Given the description of an element on the screen output the (x, y) to click on. 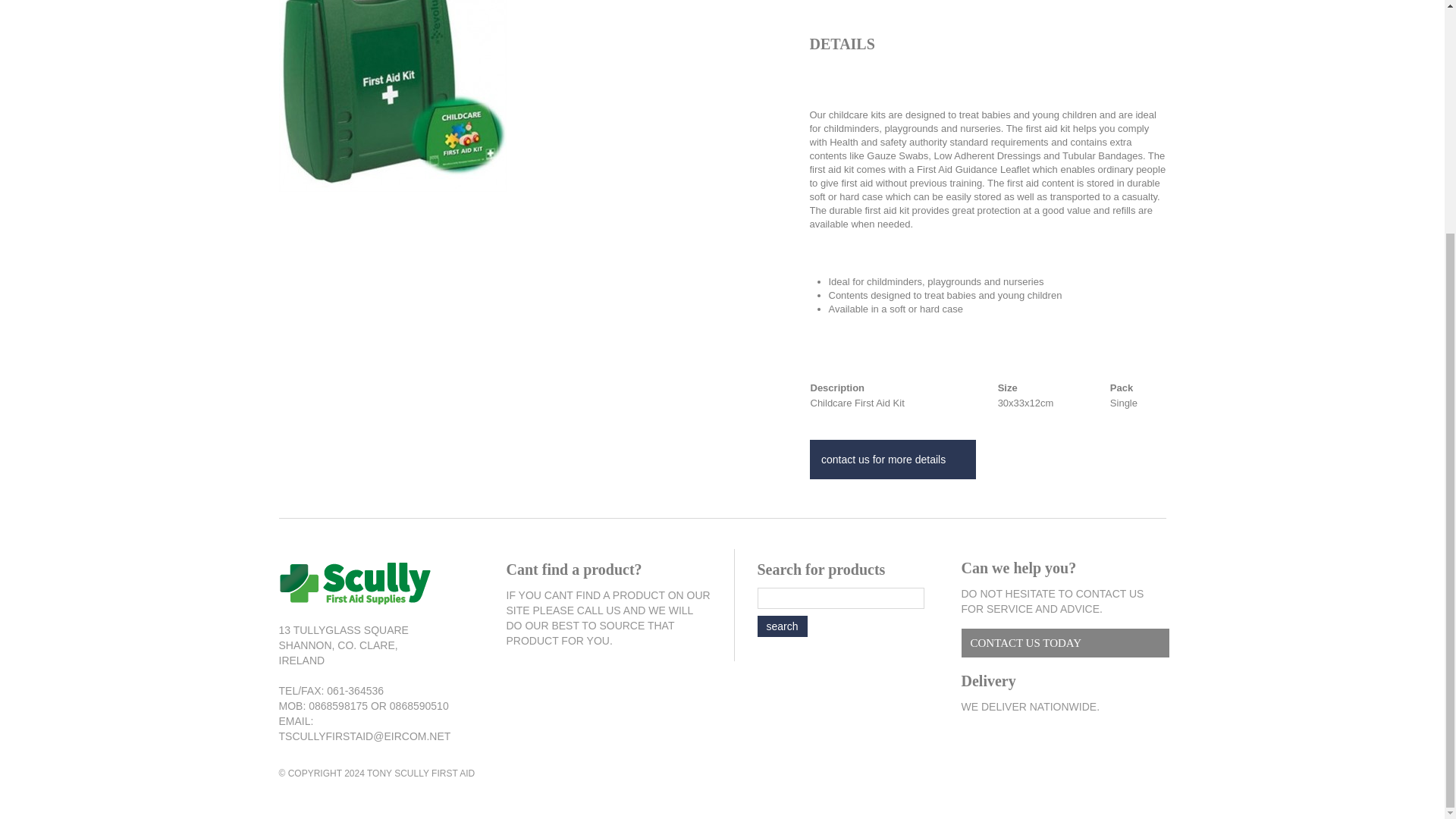
Contact us for more details (892, 459)
search (781, 626)
contact us for more details (892, 459)
search (781, 626)
CONTACT US TODAY (1065, 642)
search (781, 626)
